Given the description of an element on the screen output the (x, y) to click on. 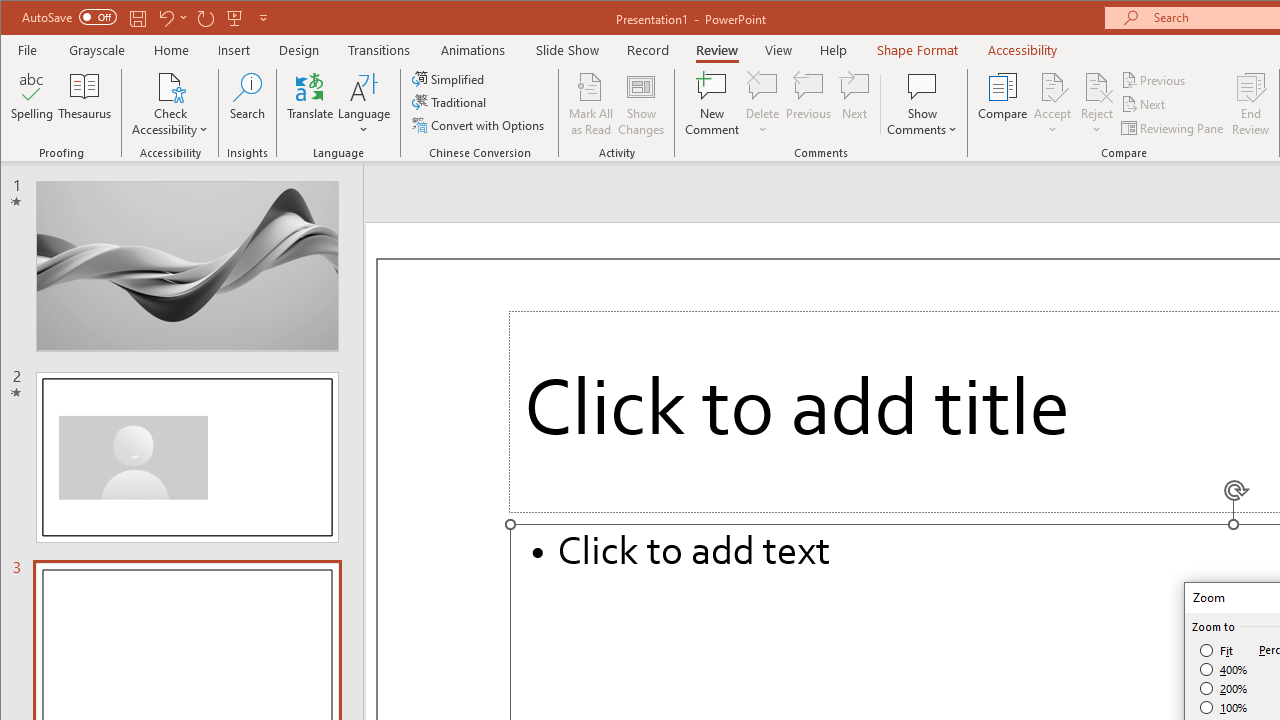
Accept (1052, 104)
Reject (1096, 104)
Convert with Options... (479, 124)
Compare (1002, 104)
